Given the description of an element on the screen output the (x, y) to click on. 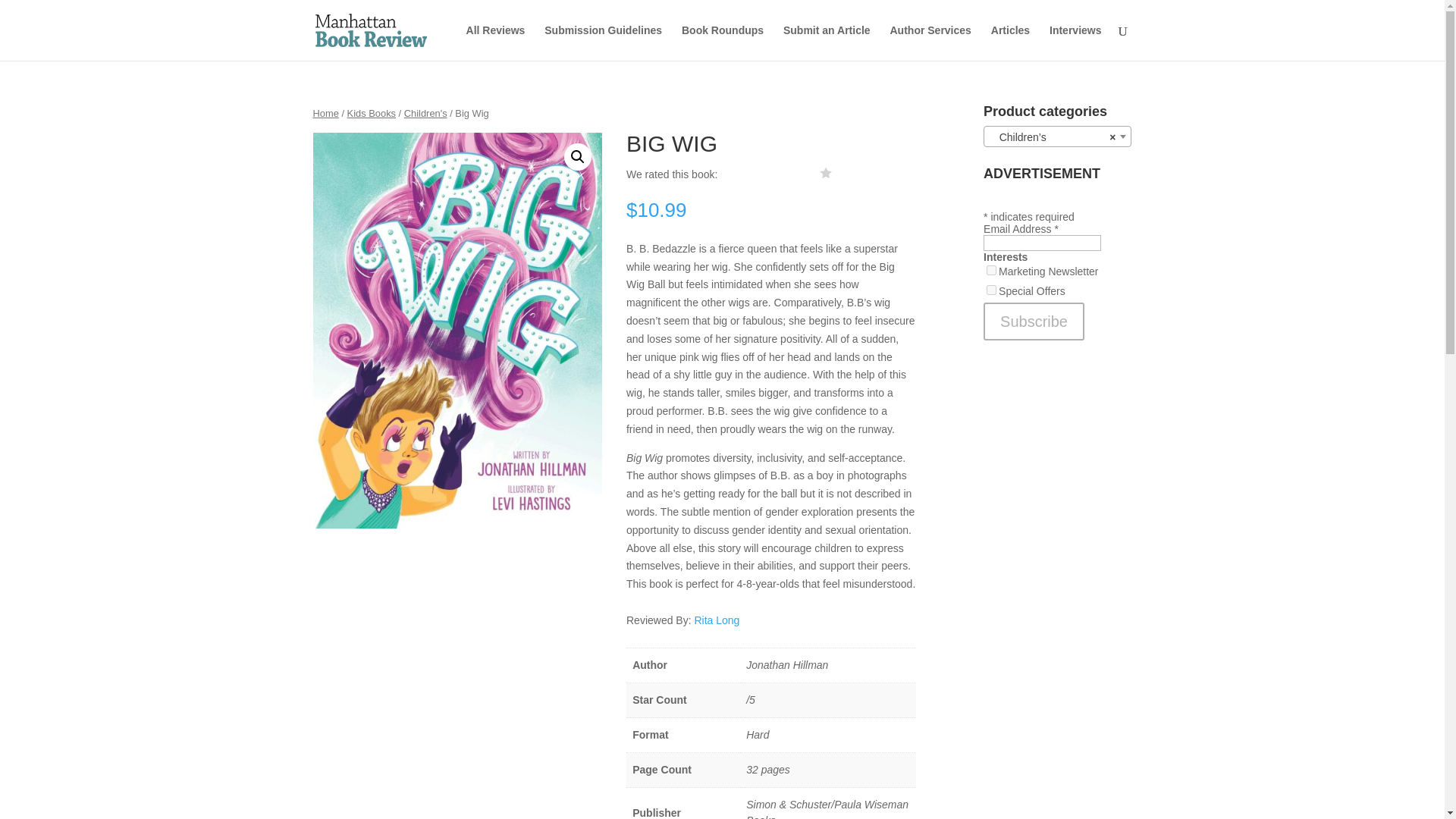
Home (325, 112)
Subscribe (1034, 321)
Submit an Article (826, 42)
Subscribe (1034, 321)
Author Services (930, 42)
1 (991, 270)
Articles (1010, 42)
Book Roundups (721, 42)
Submission Guidelines (603, 42)
Rita Long (716, 620)
Children's (425, 112)
2 (991, 289)
All Reviews (495, 42)
Interviews (1074, 42)
Kids Books (371, 112)
